Given the description of an element on the screen output the (x, y) to click on. 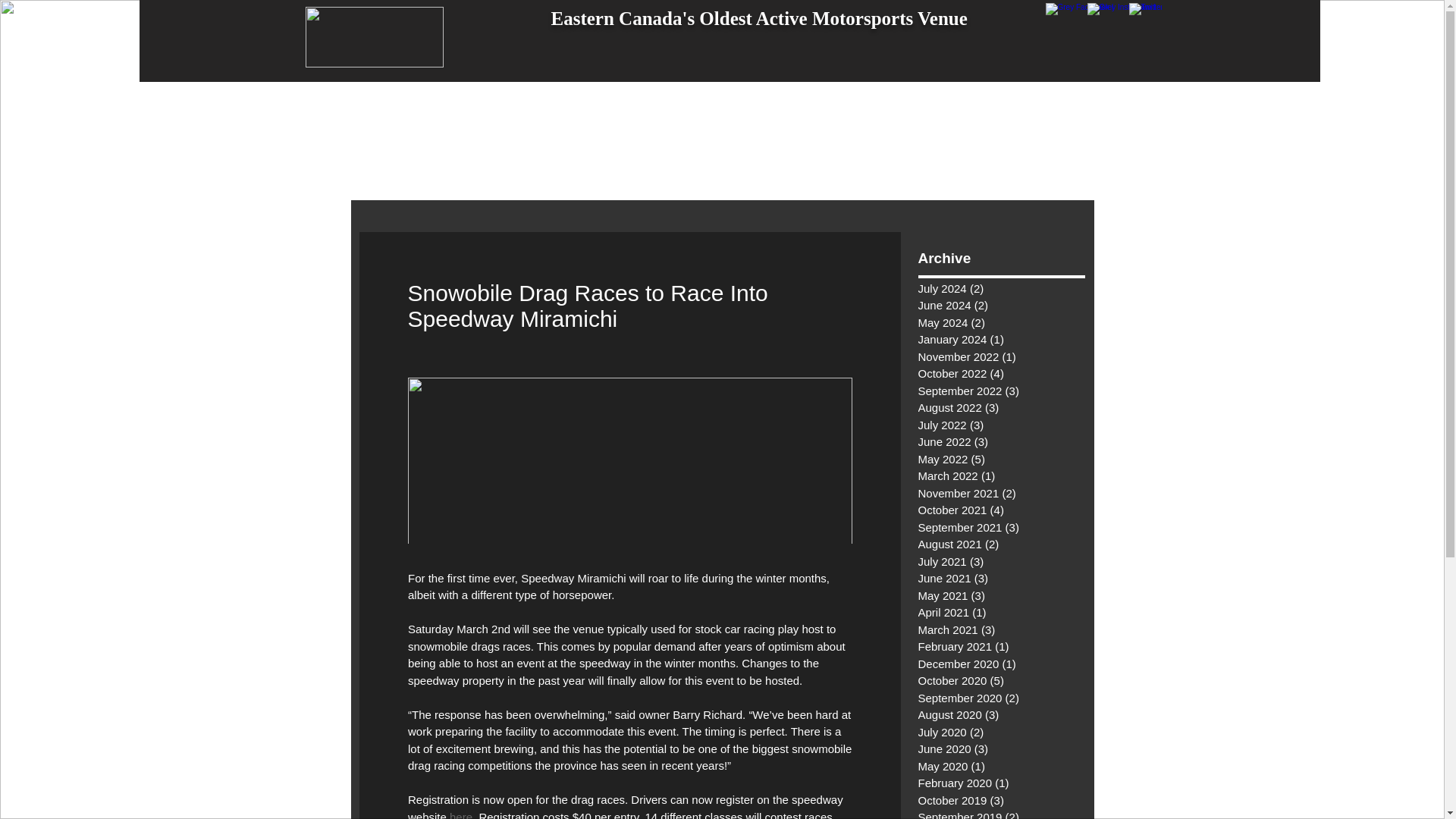
POINTS (960, 108)
here (460, 814)
SCHEDULE (637, 108)
TV (811, 108)
HOME (484, 108)
NEWS (554, 108)
